Given the description of an element on the screen output the (x, y) to click on. 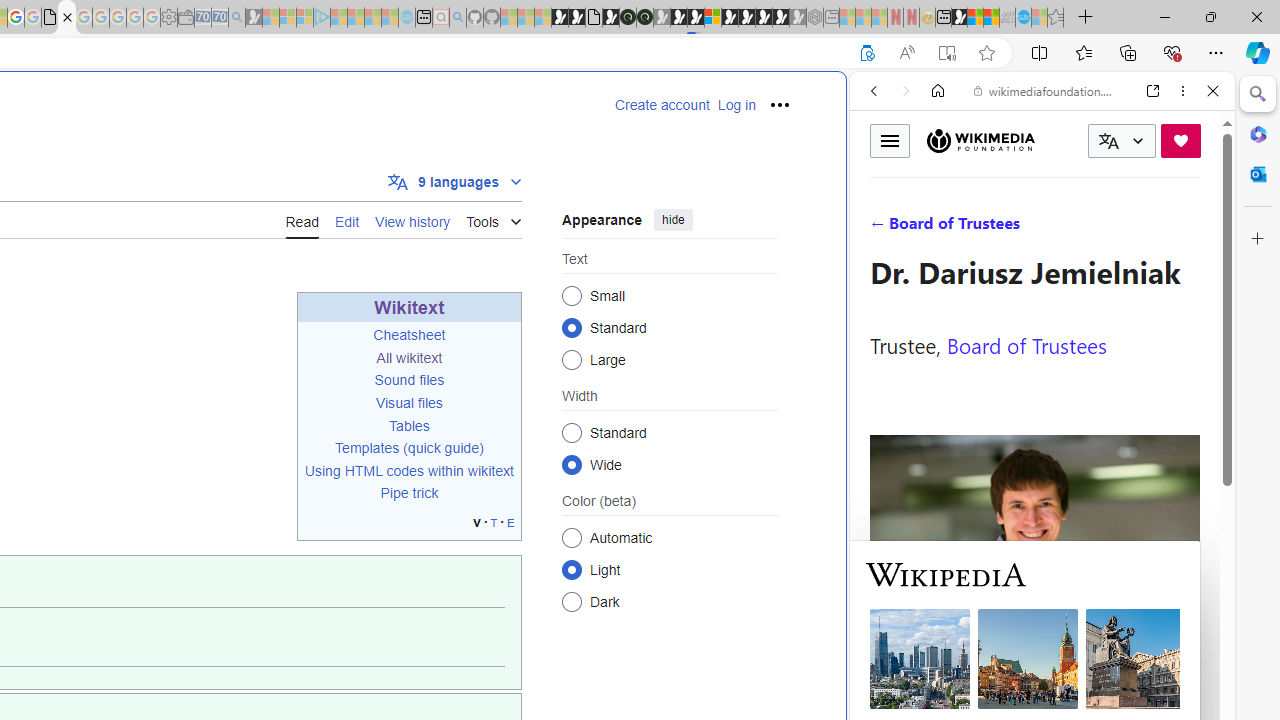
Earth has six continents not seven, radical new study claims (991, 17)
Automatic (571, 537)
hide (673, 219)
Read (301, 219)
Donate now (1180, 140)
e (509, 522)
Using HTML codes within wikitext (409, 470)
All wikitext (409, 357)
Cheatsheet (408, 335)
